Given the description of an element on the screen output the (x, y) to click on. 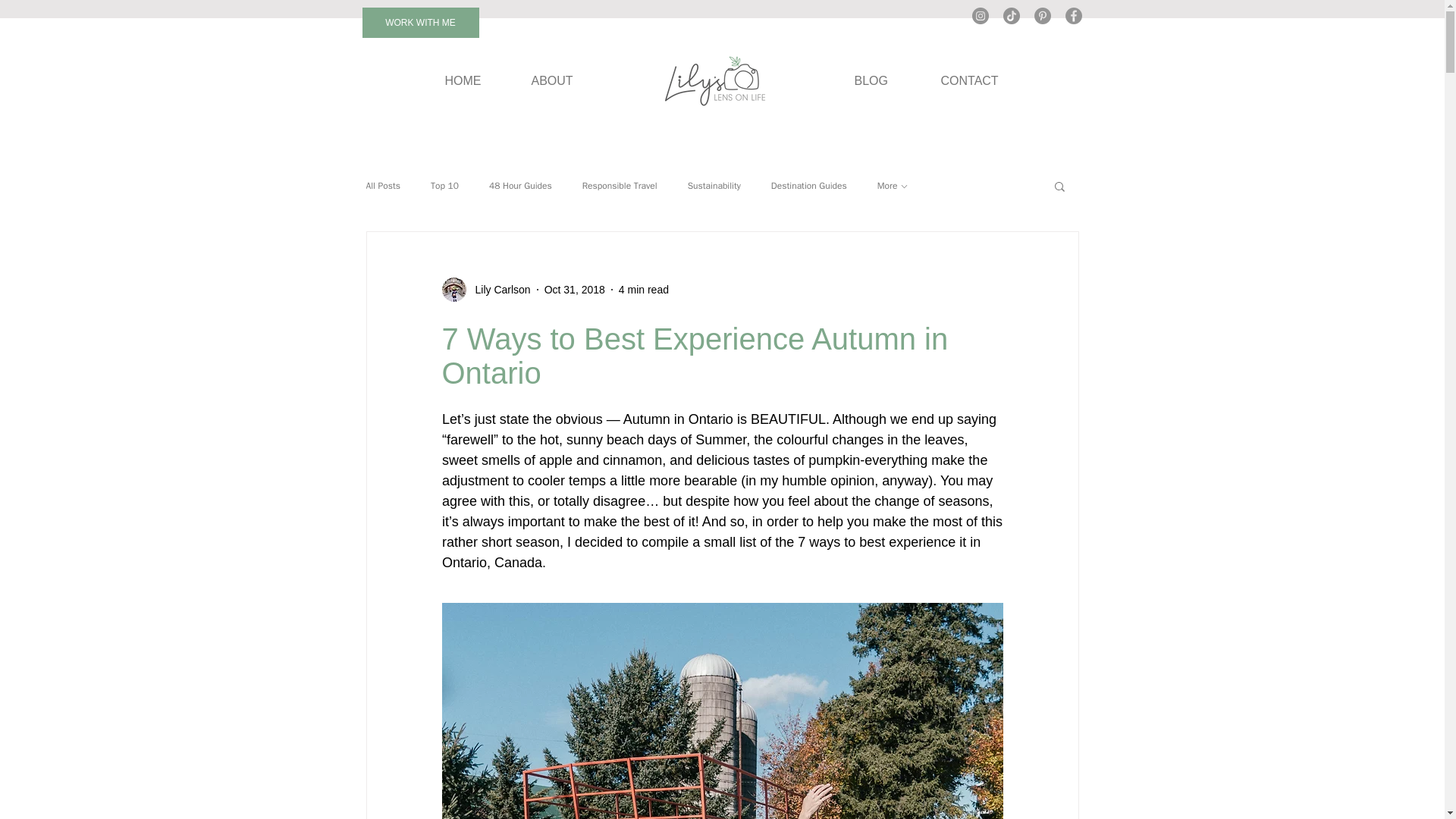
Lily Carlson (497, 289)
HOME (462, 80)
ABOUT (551, 80)
Destination Guides (809, 185)
BLOG (869, 80)
Oct 31, 2018 (574, 289)
Sustainability (714, 185)
48 Hour Guides (520, 185)
Top 10 (444, 185)
WORK WITH ME (420, 22)
